Given the description of an element on the screen output the (x, y) to click on. 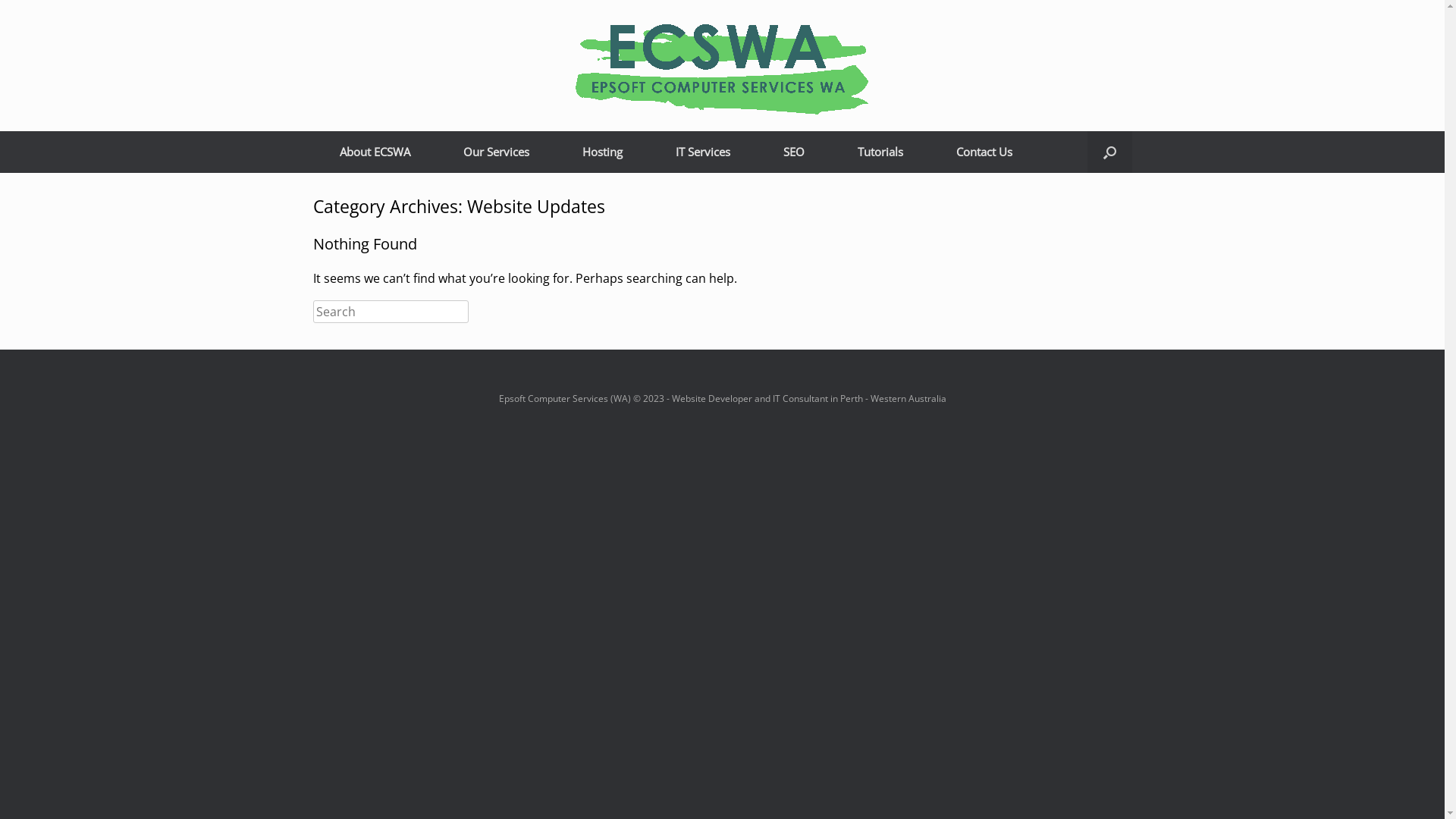
Epsoft WA Logo Element type: hover (721, 65)
Tutorials Element type: text (880, 151)
IT Services Element type: text (702, 151)
SEO Element type: text (793, 151)
Our Services Element type: text (495, 151)
About ECSWA Element type: text (374, 151)
Hosting Element type: text (601, 151)
Contact Us Element type: text (983, 151)
